Given the description of an element on the screen output the (x, y) to click on. 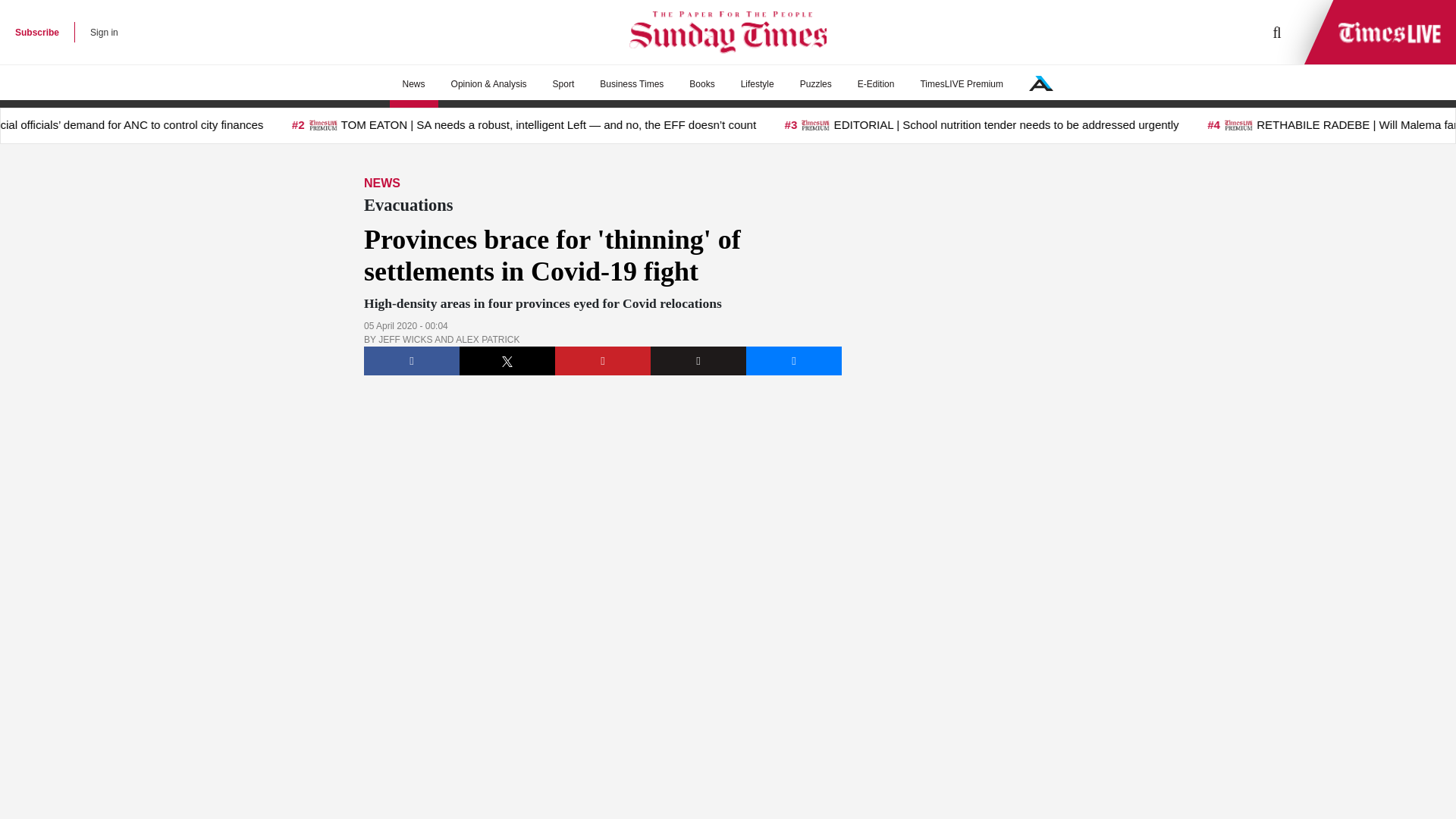
E-Edition (875, 84)
Our Network (1040, 83)
Business Times (631, 84)
Sign in (103, 32)
Books (701, 84)
Subscribe (36, 32)
Sport (564, 84)
Puzzles (815, 84)
Lifestyle (757, 84)
News (414, 84)
